Given the description of an element on the screen output the (x, y) to click on. 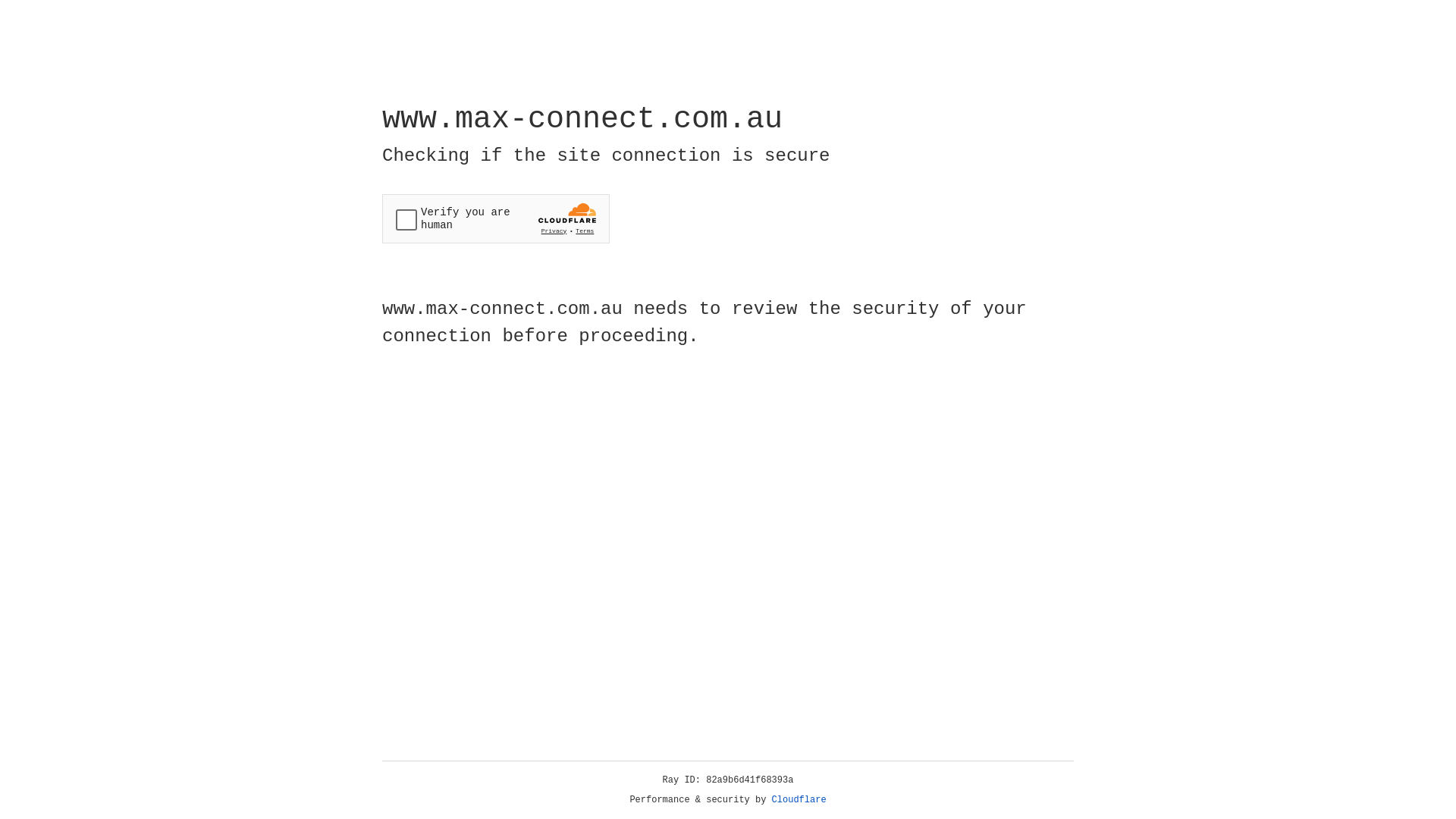
Cloudflare Element type: text (798, 799)
Widget containing a Cloudflare security challenge Element type: hover (495, 218)
